Given the description of an element on the screen output the (x, y) to click on. 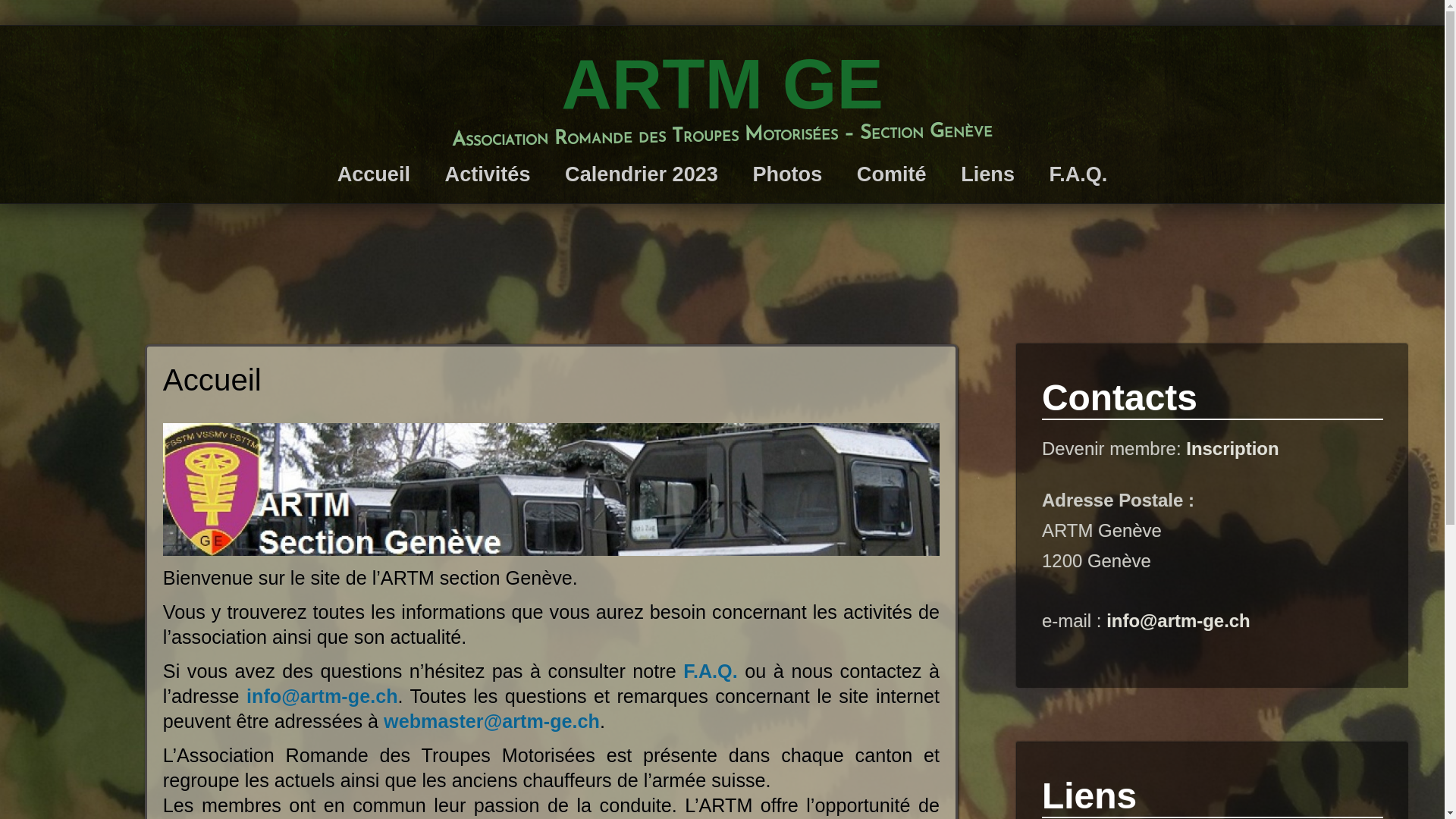
Accueil Element type: text (373, 173)
Calendrier 2023 Element type: text (641, 173)
F.A.Q. Element type: text (1078, 173)
Inscription Element type: text (1232, 448)
F.A.Q. Element type: text (710, 670)
webmaster@artm-ge.ch Element type: text (491, 720)
info@artm-ge.ch Element type: text (1178, 620)
ARTM GE Element type: text (722, 84)
info@artm-ge.ch Element type: text (321, 695)
Liens Element type: text (987, 173)
Photos Element type: text (787, 173)
